Given the description of an element on the screen output the (x, y) to click on. 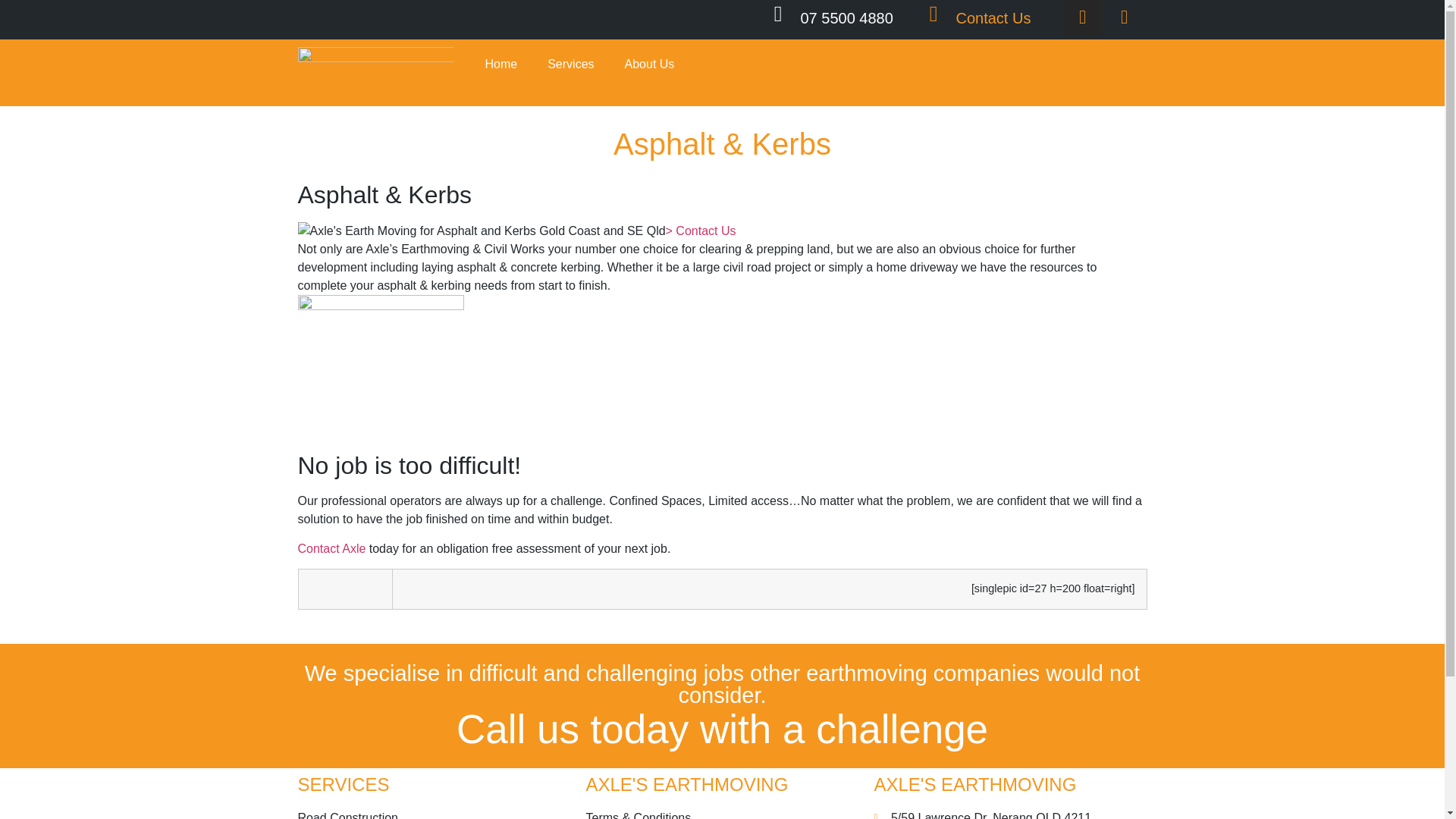
Contact (331, 548)
Home (500, 63)
Contact Axle (331, 548)
Services (570, 63)
Contact Us (992, 17)
Road Construction (433, 814)
About Us (650, 63)
Contact (700, 230)
